Given the description of an element on the screen output the (x, y) to click on. 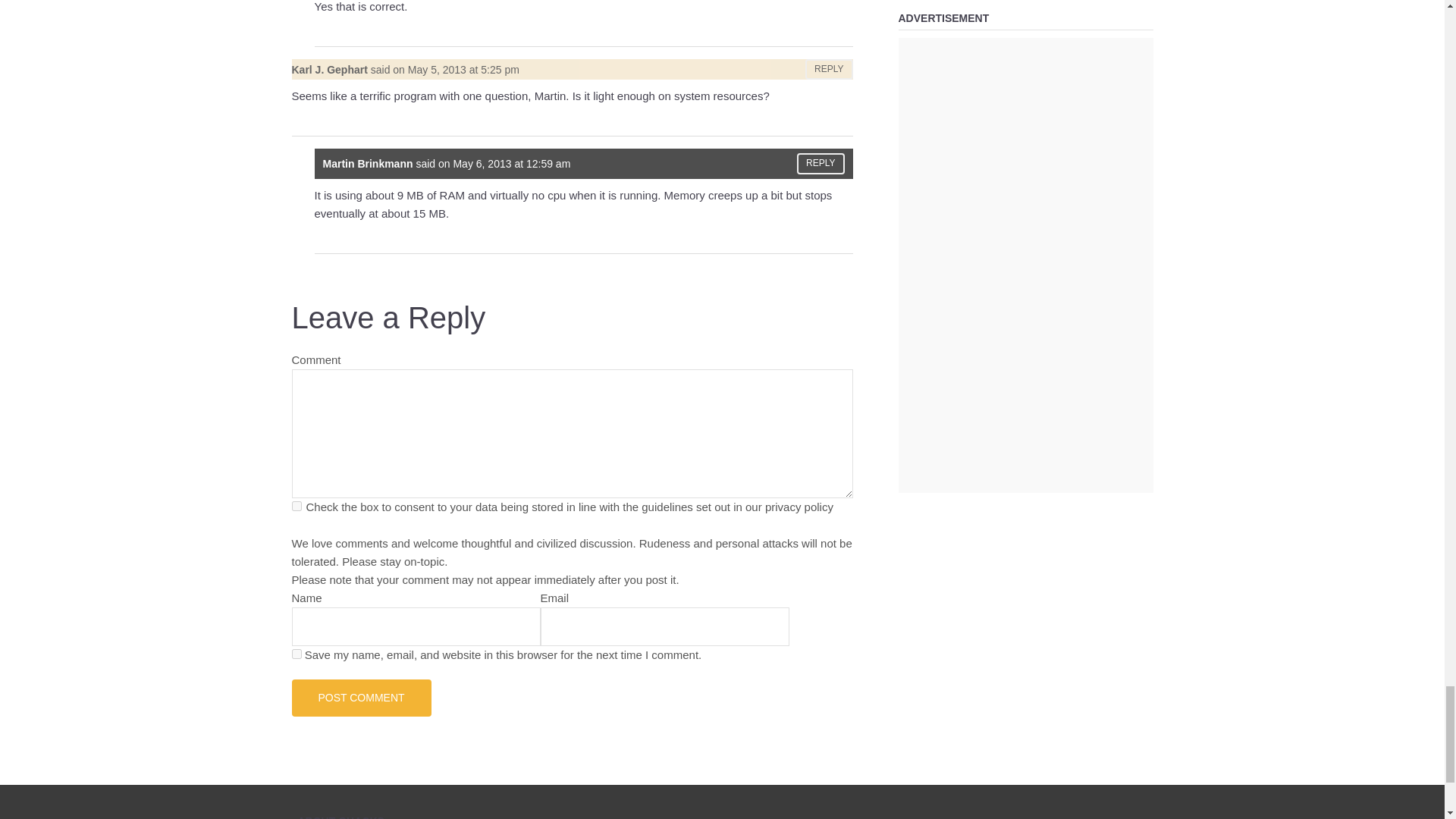
yes (296, 654)
Post Comment (360, 697)
privacy-key (296, 506)
